Given the description of an element on the screen output the (x, y) to click on. 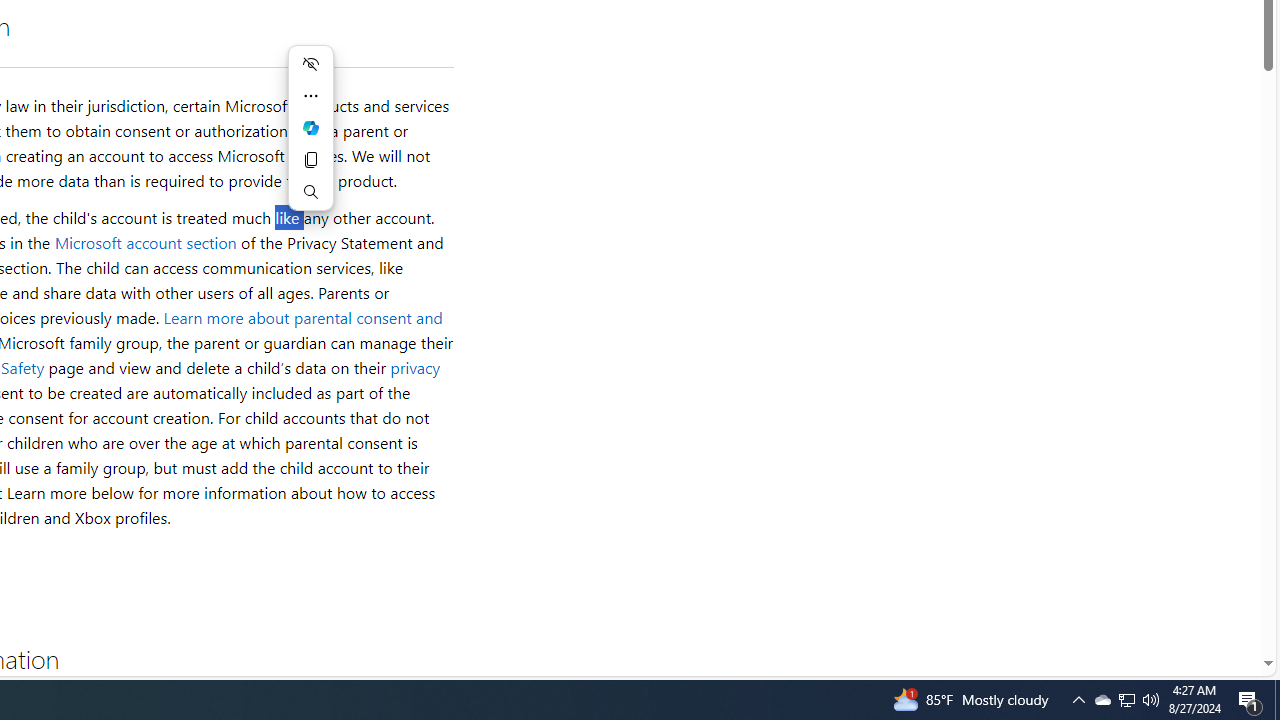
Microsoft account section (144, 241)
Mini menu on text selection (310, 139)
More actions (310, 95)
Mini menu on text selection (310, 128)
Hide menu (310, 63)
Ask Copilot (310, 128)
Copy (310, 159)
